Given the description of an element on the screen output the (x, y) to click on. 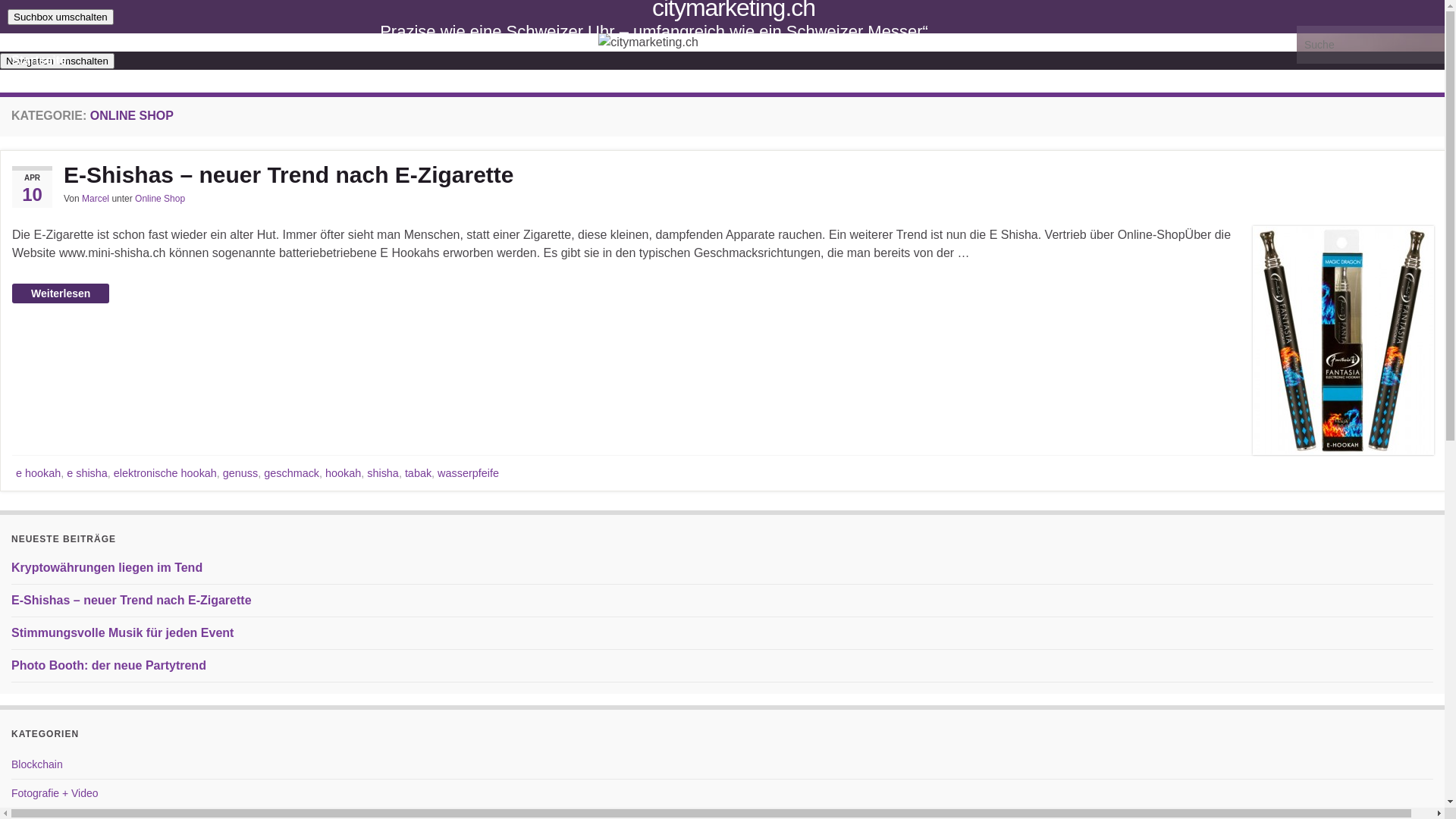
geschmack Element type: text (291, 473)
e shisha Element type: text (86, 473)
Marcel Element type: text (95, 198)
citymarketing.ch Element type: hover (648, 42)
e hookah Element type: text (37, 473)
Startseite Element type: text (39, 60)
genuss Element type: text (239, 473)
wasserpfeife Element type: text (467, 473)
Online Shop Element type: text (159, 198)
hookah Element type: text (342, 473)
Navigation umschalten Element type: text (57, 61)
tabak Element type: text (417, 473)
Photo Booth: der neue Partytrend Element type: text (108, 664)
shisha Element type: text (382, 473)
Weiterlesen Element type: text (60, 293)
Suchbox umschalten Element type: text (60, 17)
Fotografie + Video Element type: text (54, 793)
elektronische hookah Element type: text (164, 473)
Blockchain Element type: text (36, 764)
